Given the description of an element on the screen output the (x, y) to click on. 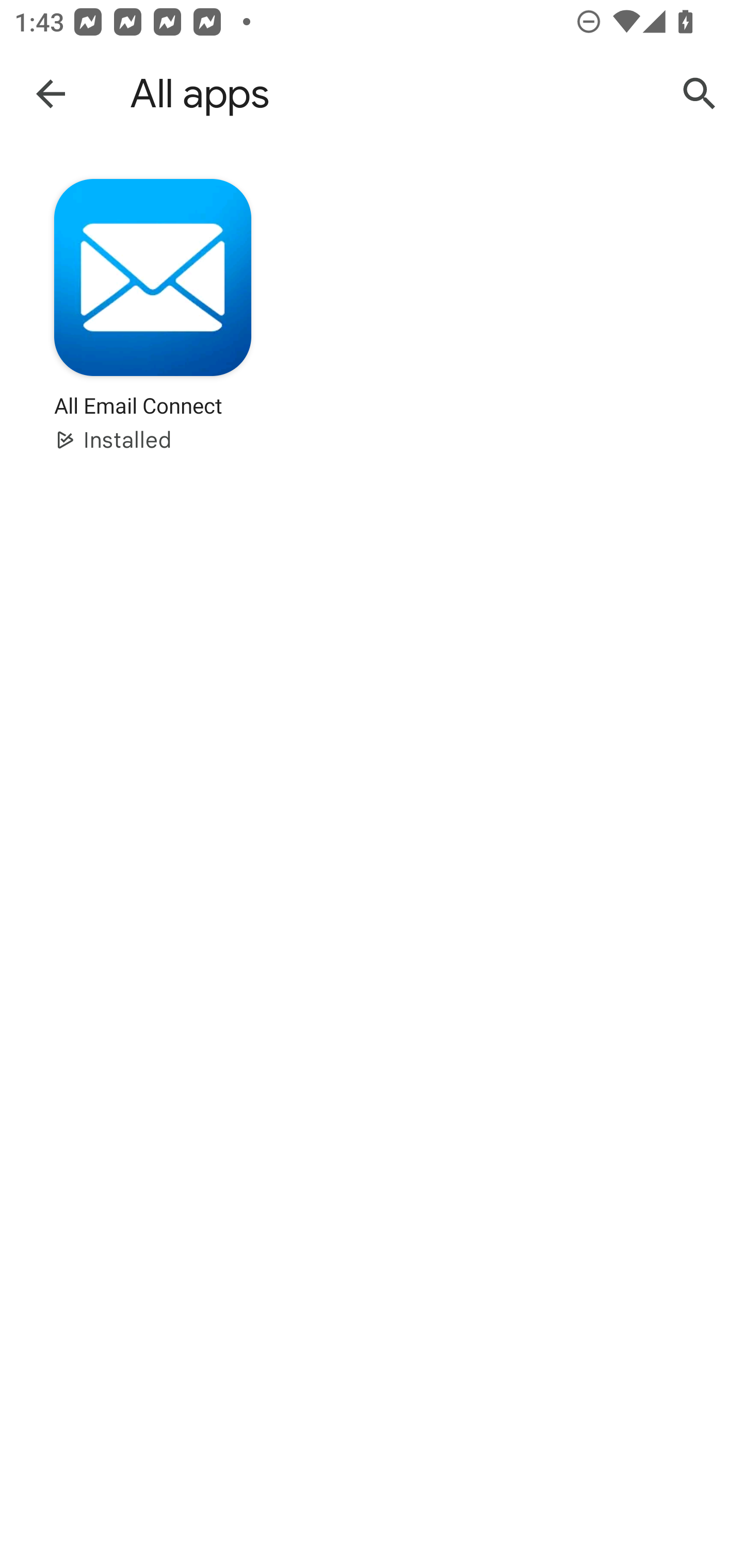
Navigate up (50, 92)
Search Google Play (699, 93)
App: All Email Connect
Installed

 (152, 328)
